Given the description of an element on the screen output the (x, y) to click on. 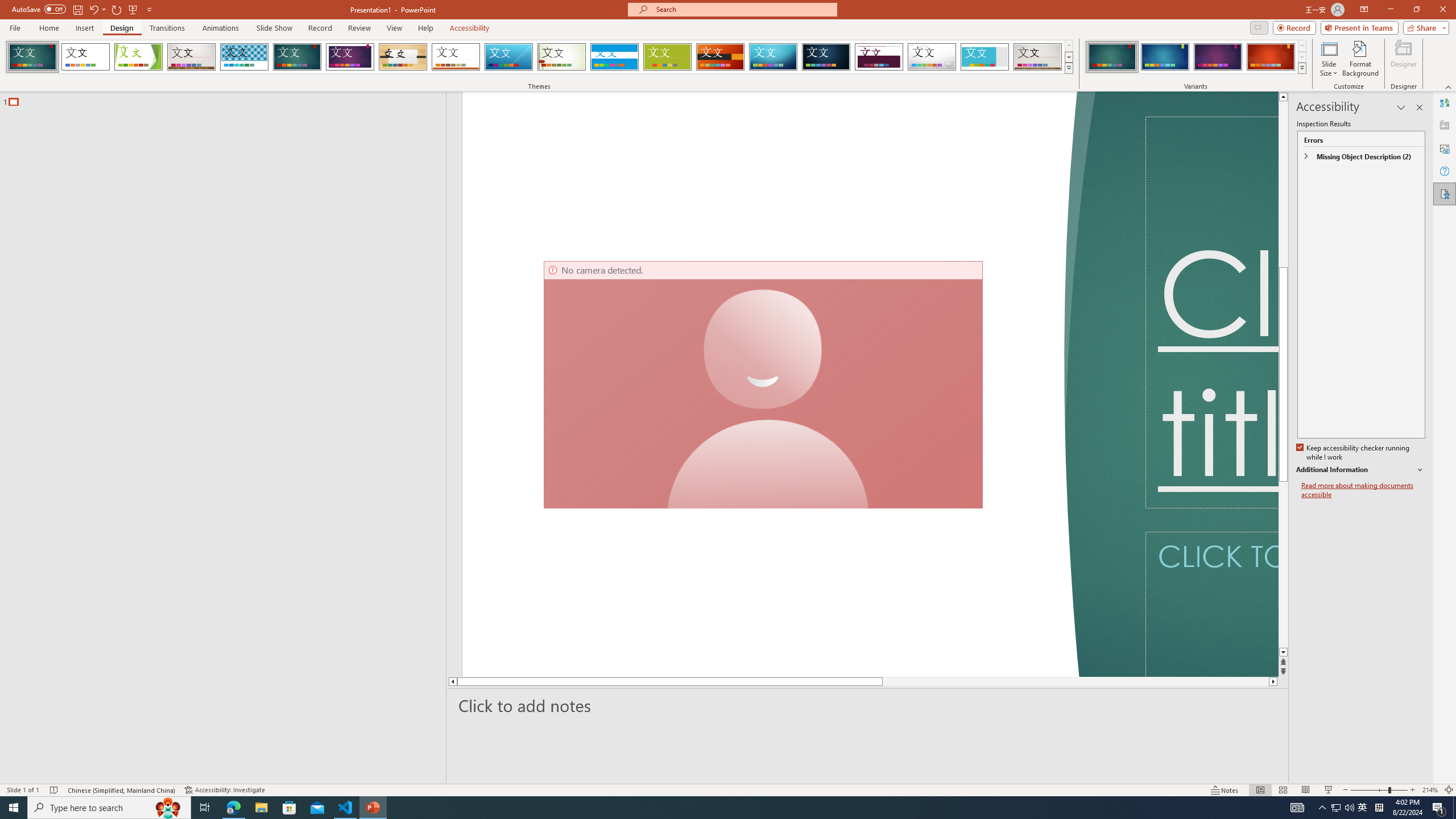
Slice (508, 56)
Close pane (1419, 107)
Ion Variant 4 (1270, 56)
Designer (1444, 125)
Banded (614, 56)
Damask (826, 56)
Task Pane Options (1400, 107)
Ion Variant 1 (1112, 56)
Read more about making documents accessible (1363, 489)
